Given the description of an element on the screen output the (x, y) to click on. 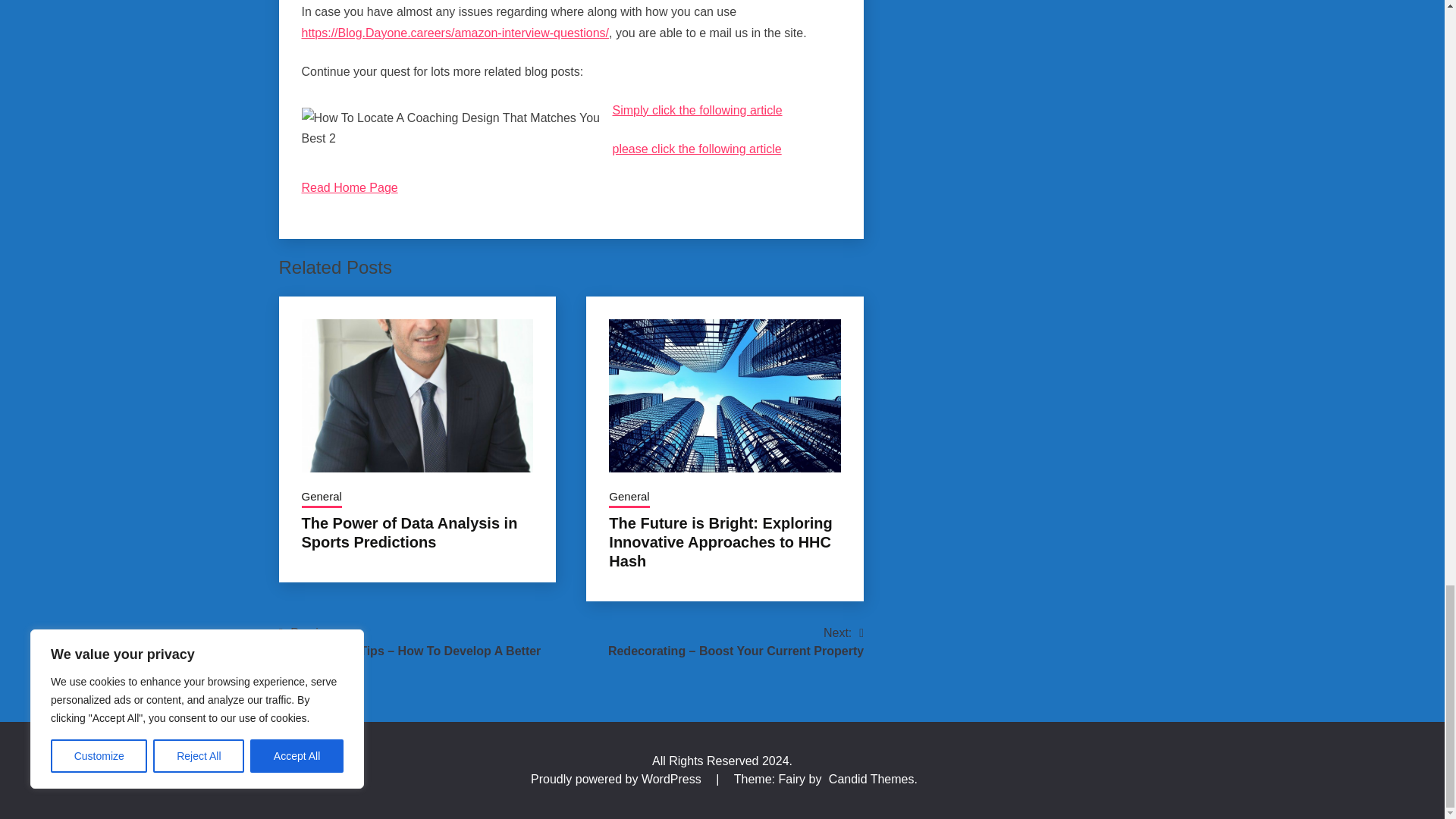
Read Home Page (349, 187)
please click the following article (696, 148)
Simply click the following article (697, 110)
